Given the description of an element on the screen output the (x, y) to click on. 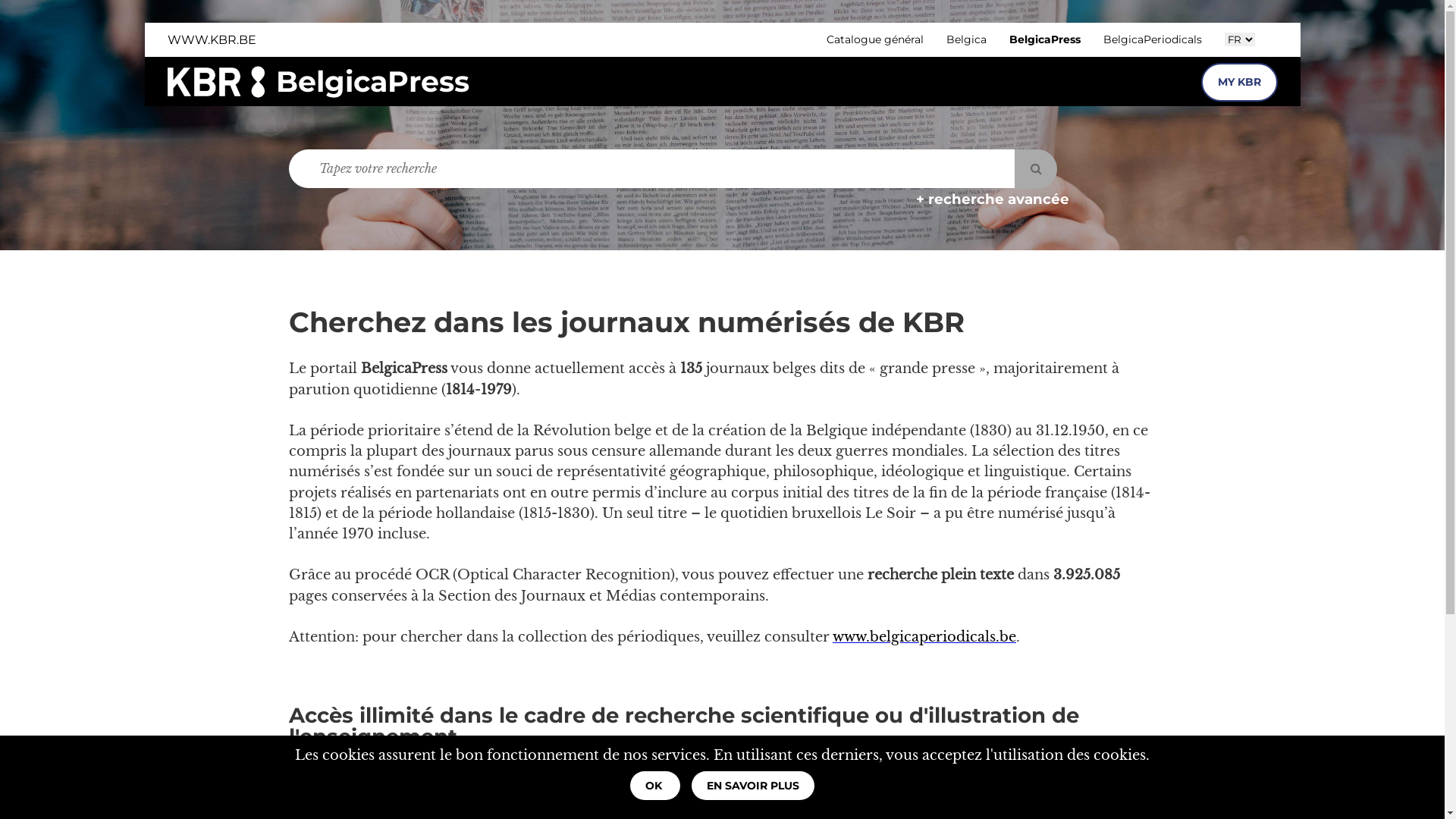
EN SAVOIR PLUS Element type: text (752, 785)
MY KBR Element type: text (1239, 81)
BelgicaPeriodicals Element type: text (1151, 39)
WWW.KBR.BE Element type: text (210, 39)
BelgicaPress Element type: text (372, 81)
Belgica Element type: text (966, 39)
OK Element type: text (655, 785)
BelgicaPress Element type: text (1043, 39)
www.belgicaperiodicals.be Element type: text (924, 636)
